Given the description of an element on the screen output the (x, y) to click on. 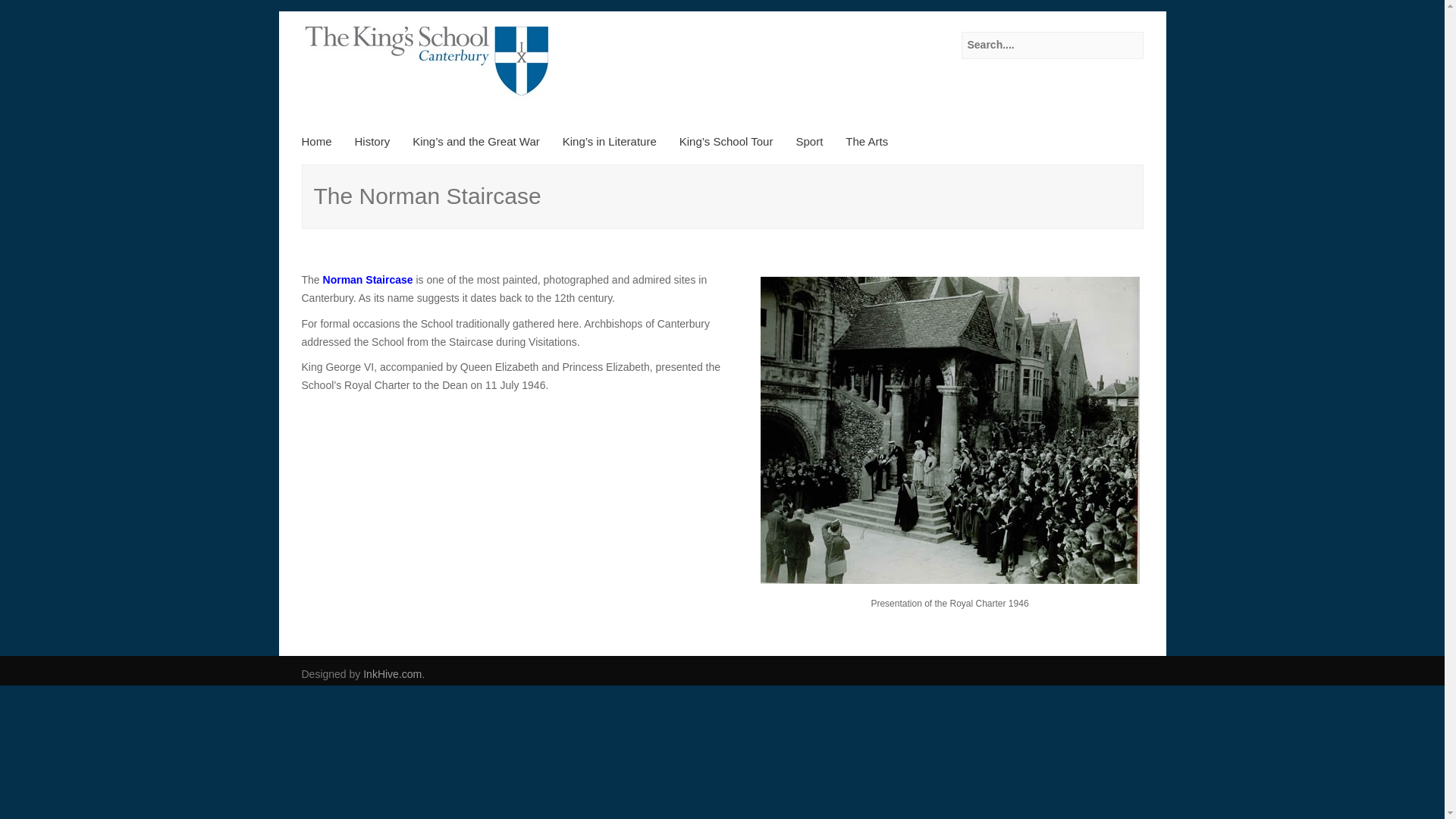
Skip to content (349, 146)
History (372, 146)
Home (322, 146)
